Given the description of an element on the screen output the (x, y) to click on. 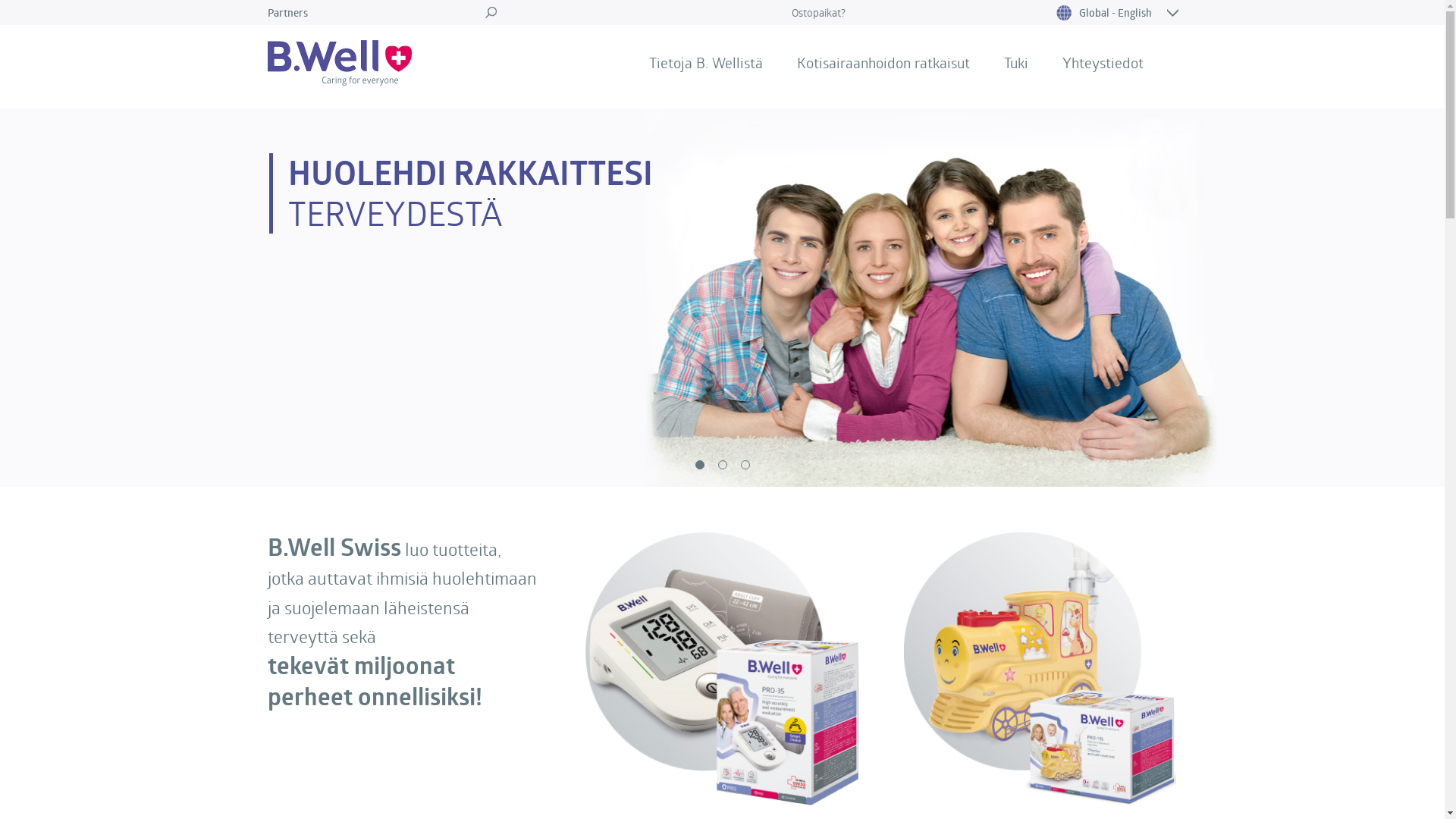
Kotisairaanhoidon ratkaisut Element type: text (882, 62)
Tuki Element type: text (1016, 62)
Partners Element type: text (286, 12)
Ostopaikat? Element type: text (818, 12)
Yhteystiedot Element type: text (1101, 62)
